Given the description of an element on the screen output the (x, y) to click on. 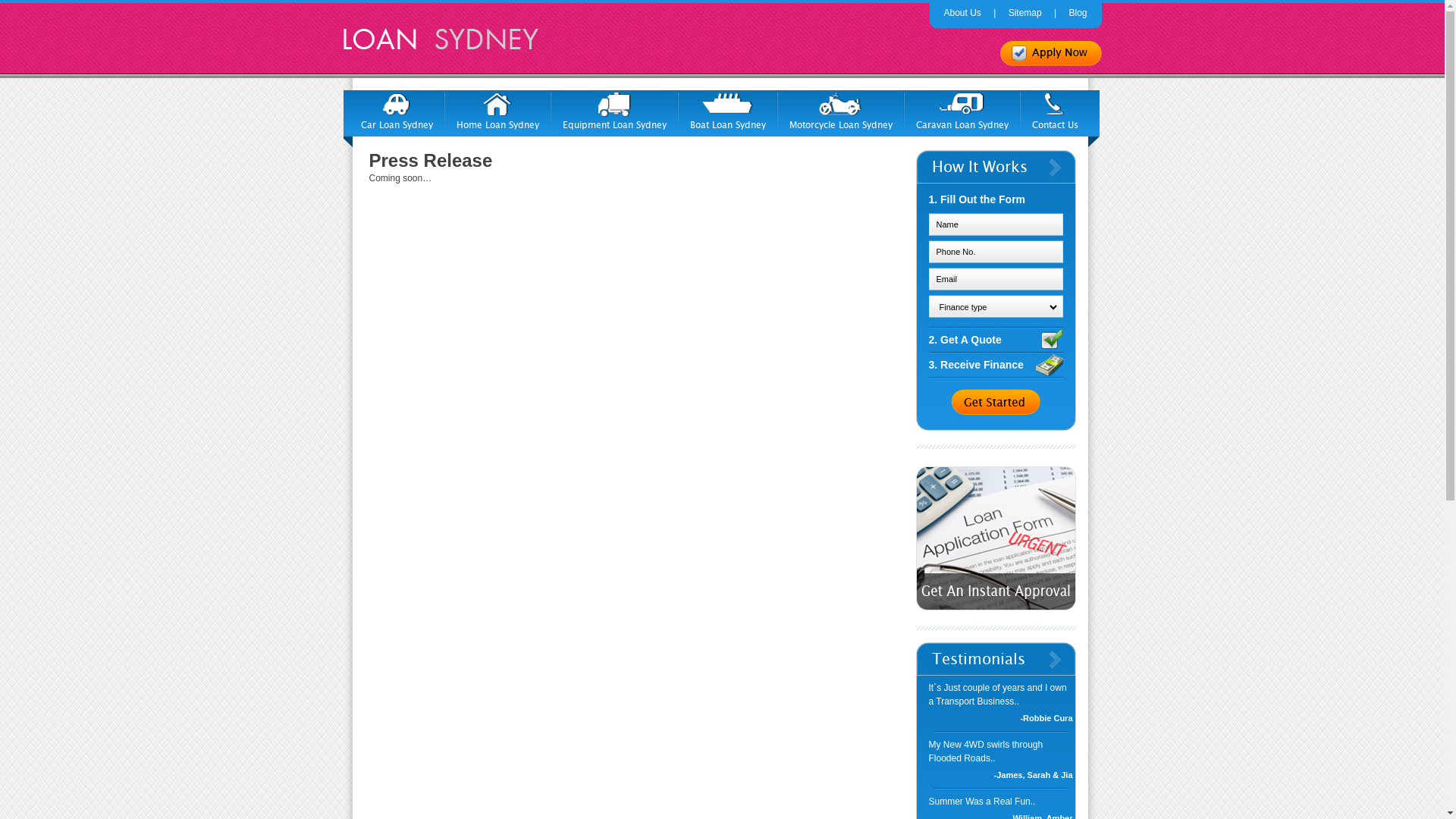
Home Loan Sydney Element type: text (496, 110)
Blog Element type: text (1077, 12)
Logo Element type: text (437, 37)
3. Receive Finance Element type: text (995, 364)
About Us Element type: text (961, 12)
Car Loan Sydney Element type: text (395, 110)
Motorcycle Loan Sydney Element type: text (840, 110)
2. Get A Quote Element type: text (995, 339)
Boat Loan Sydney Element type: text (726, 110)
Equipment Loan Sydney Element type: text (613, 110)
Contact Us Element type: text (1054, 110)
Sitemap Element type: text (1024, 12)
Caravan Loan Sydney Element type: text (961, 110)
